Given the description of an element on the screen output the (x, y) to click on. 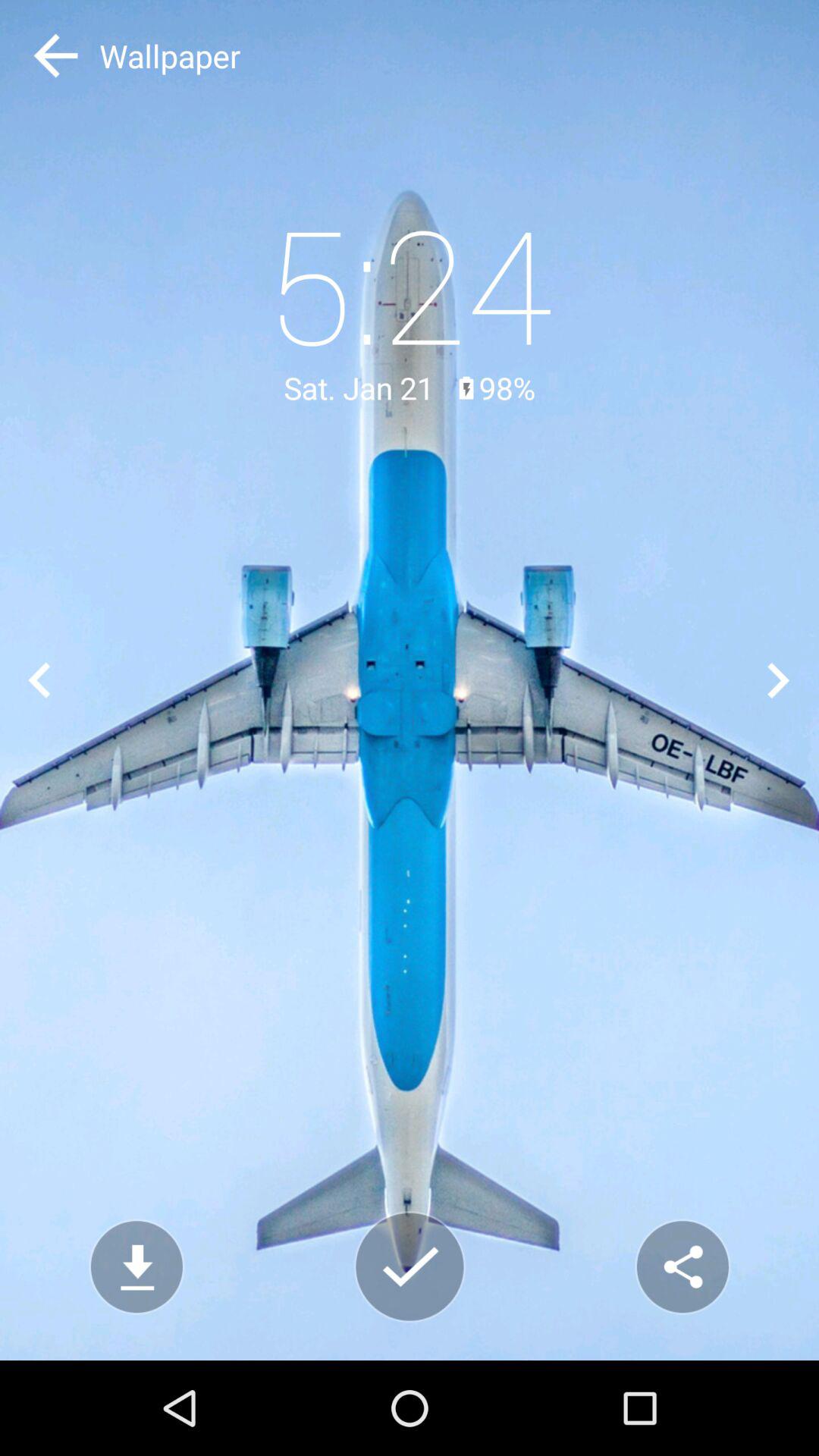
saving icon (409, 1266)
